Given the description of an element on the screen output the (x, y) to click on. 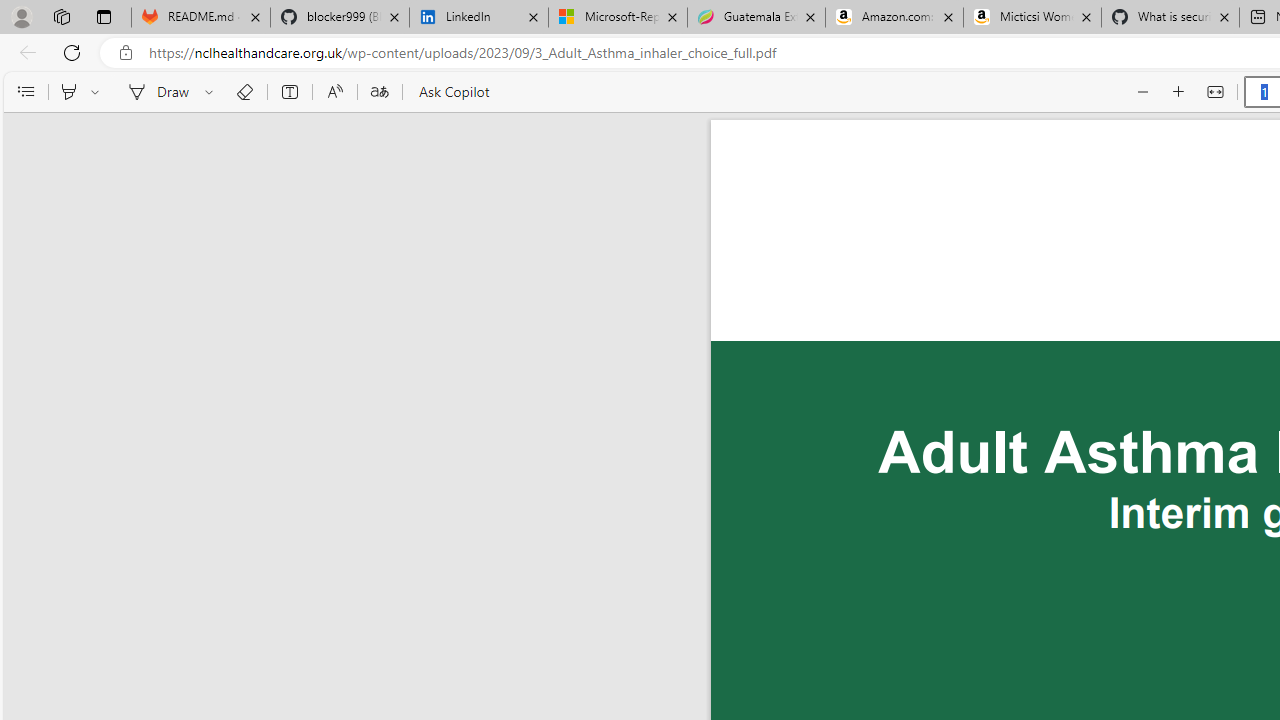
Read aloud (334, 92)
Highlight (68, 92)
Erase (244, 92)
Fit to width (Ctrl+\) (1214, 92)
Contents (25, 92)
Ask Copilot (452, 92)
Select a highlight color (98, 92)
Zoom out (Ctrl+Minus key) (1143, 92)
